Given the description of an element on the screen output the (x, y) to click on. 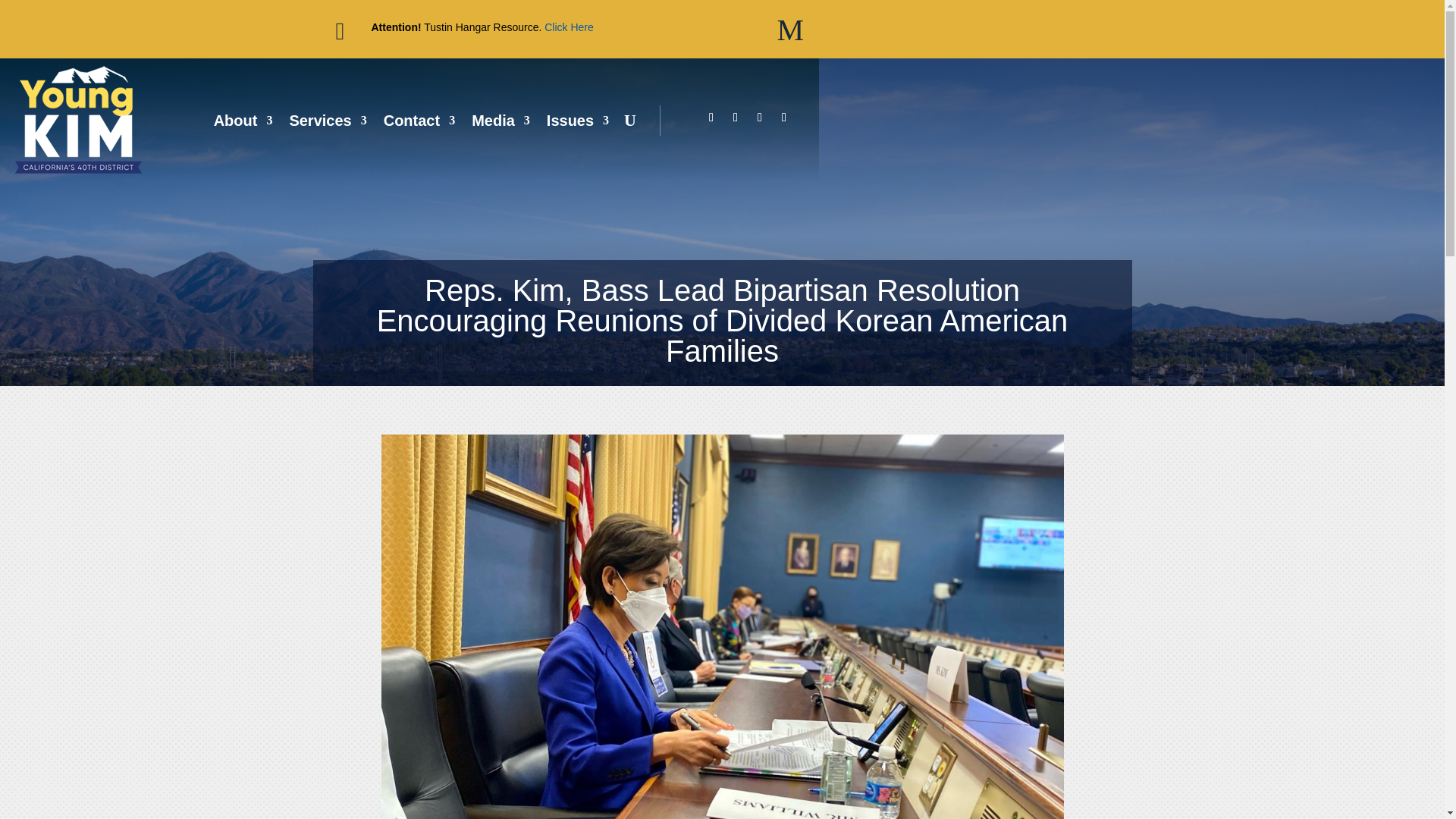
Follow on Youtube (783, 116)
Follow on X (735, 116)
Click Here (569, 27)
Follow on Instagram (759, 116)
Follow on Facebook (710, 116)
